Given the description of an element on the screen output the (x, y) to click on. 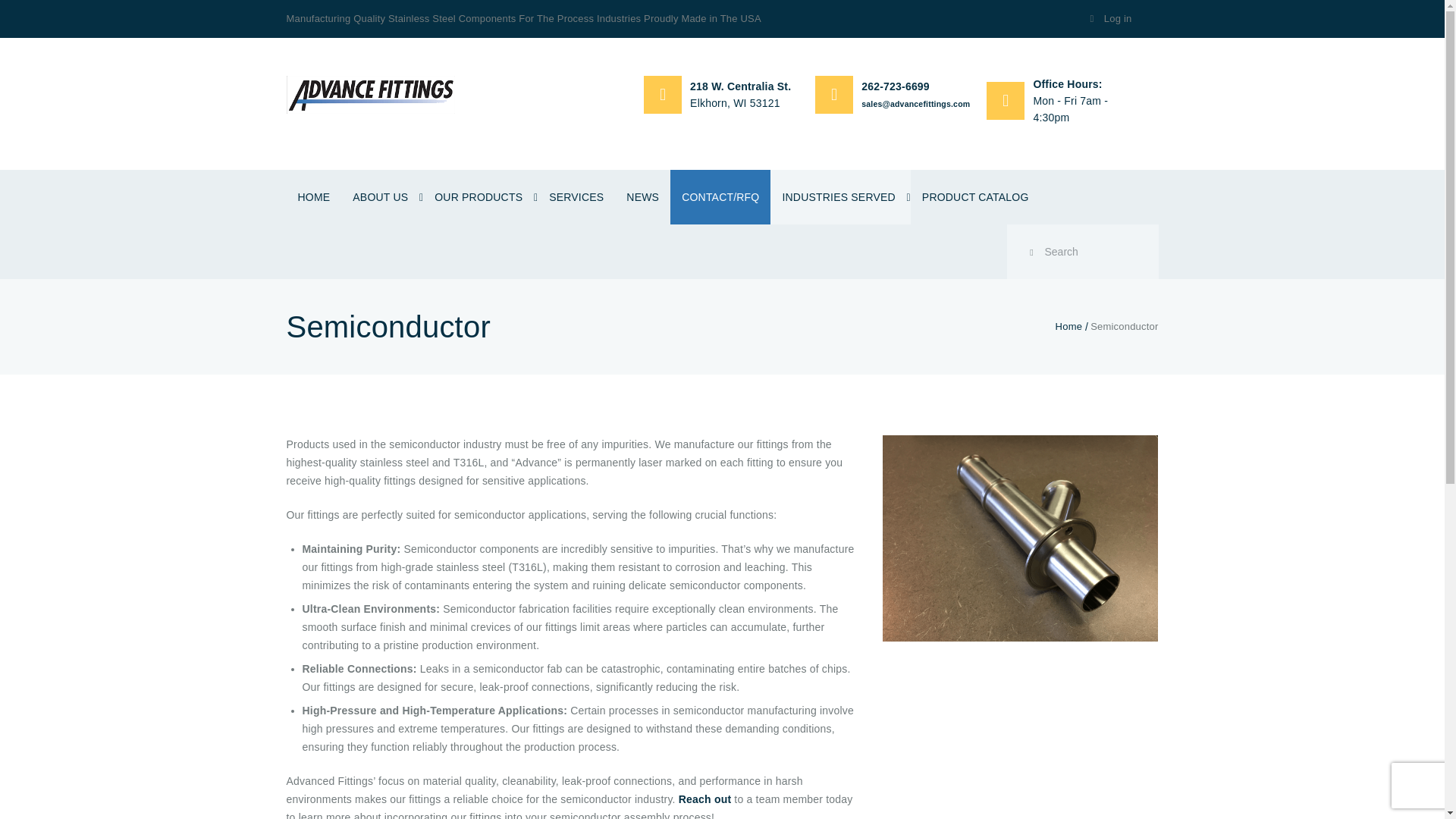
Log in (1108, 18)
262-723-6699 (895, 86)
HOME (314, 196)
218 W. Centralia St. (740, 86)
OUR PRODUCTS (480, 196)
ABOUT US (381, 196)
Elkhorn, WI 53121 (740, 111)
Search (1082, 251)
